Given the description of an element on the screen output the (x, y) to click on. 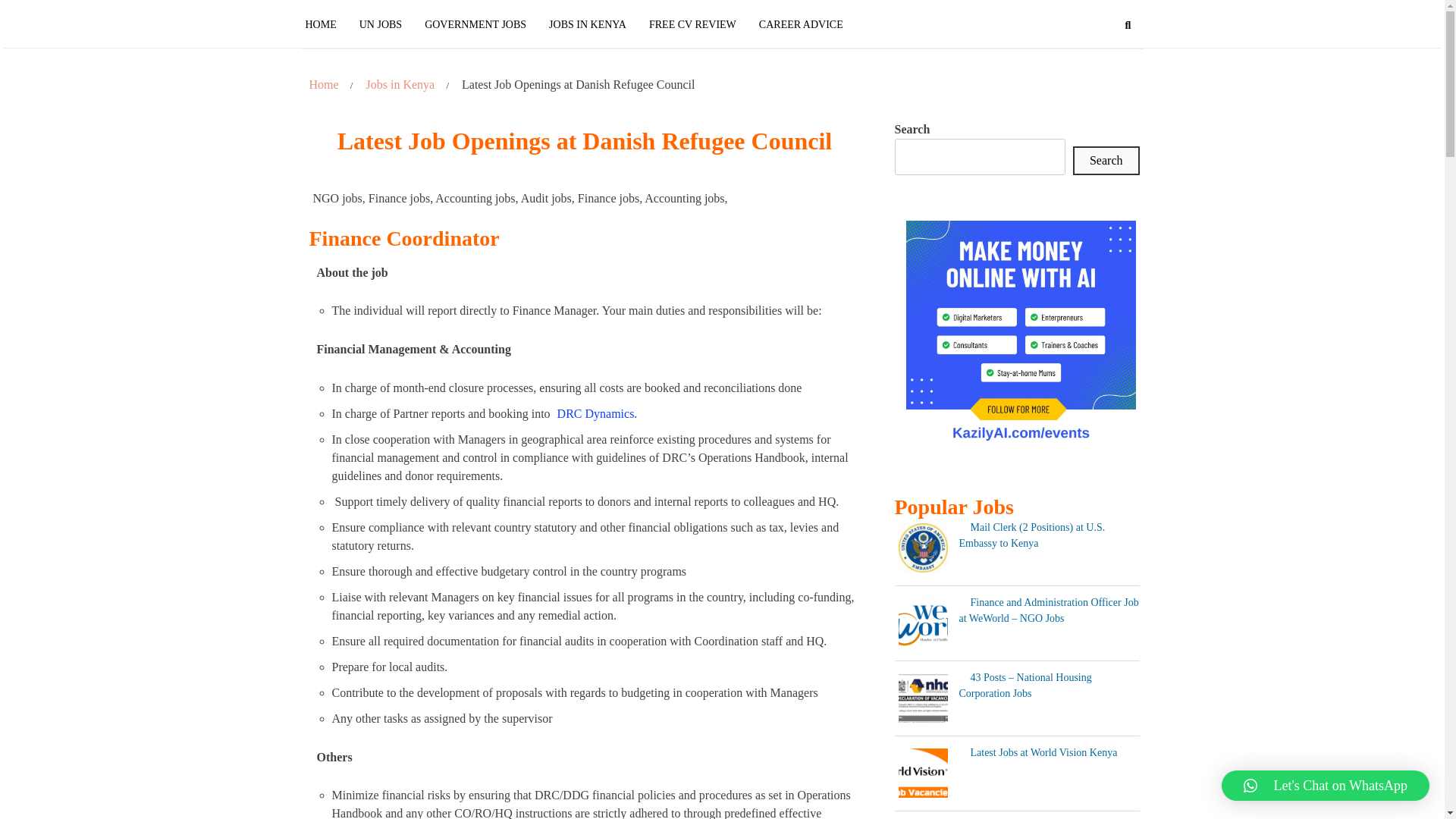
FREE CV REVIEW (692, 24)
Search (1100, 87)
Jobs in Kenya (400, 84)
GOVERNMENT JOBS (475, 24)
CAREER ADVICE (801, 24)
JOBS IN KENYA (587, 24)
DRC Dynamics. (597, 413)
Search (1127, 25)
HOME (325, 24)
UN JOBS (380, 24)
Home (323, 84)
Search (1106, 160)
